Given the description of an element on the screen output the (x, y) to click on. 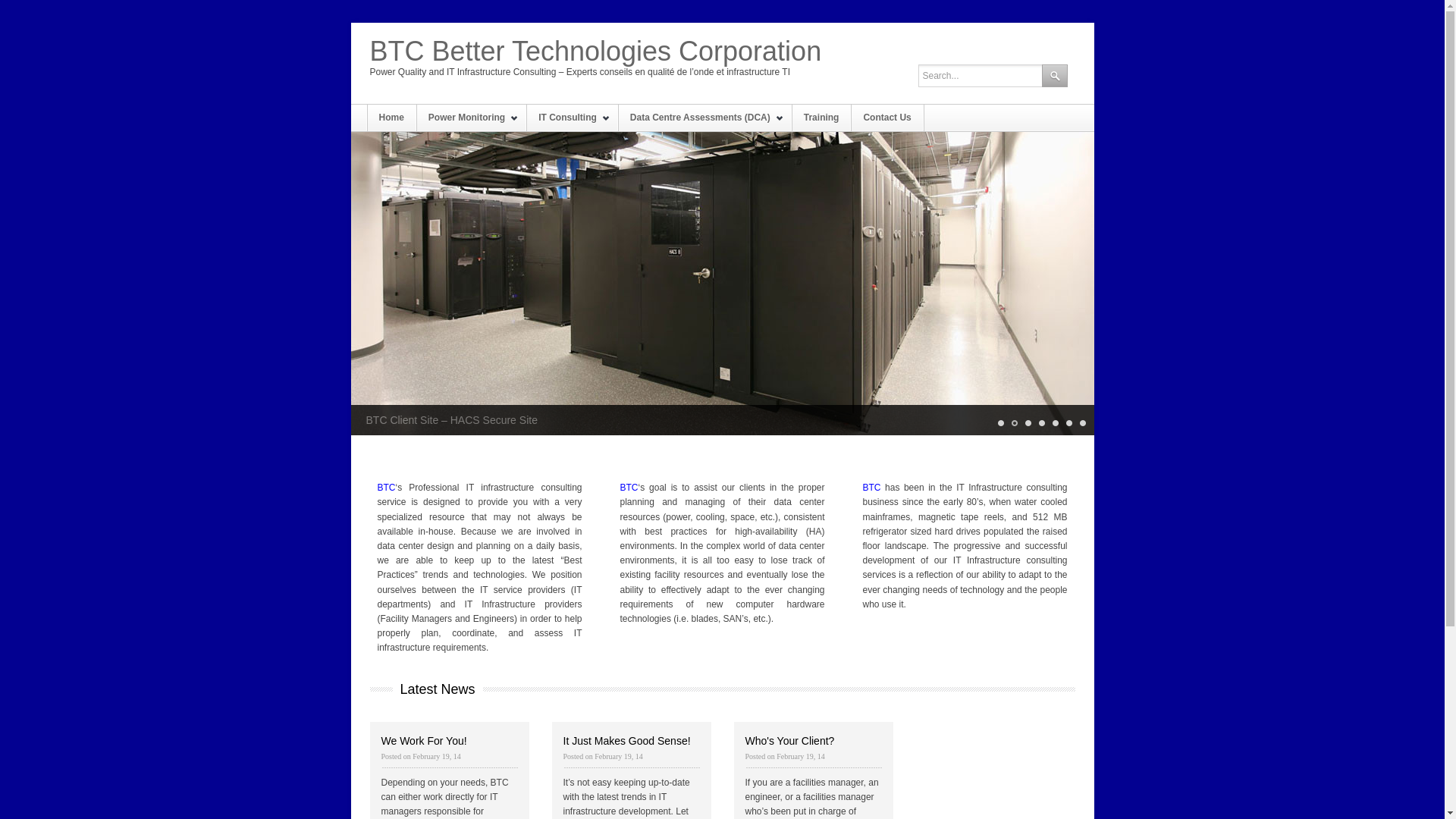
2 Element type: text (1013, 422)
7 Element type: text (1081, 422)
We Work For You! Element type: text (423, 740)
BTC Better Technologies Corporation Element type: text (601, 51)
Home Element type: text (391, 117)
Training Element type: text (821, 117)
Who's Your Client? Element type: text (789, 740)
It Just Makes Good Sense! Element type: text (626, 740)
5 Element type: text (1054, 422)
4 Element type: text (1040, 422)
3 Element type: text (1027, 422)
1 Element type: text (999, 422)
6 Element type: text (1068, 422)
Contact Us Element type: text (886, 117)
